Given the description of an element on the screen output the (x, y) to click on. 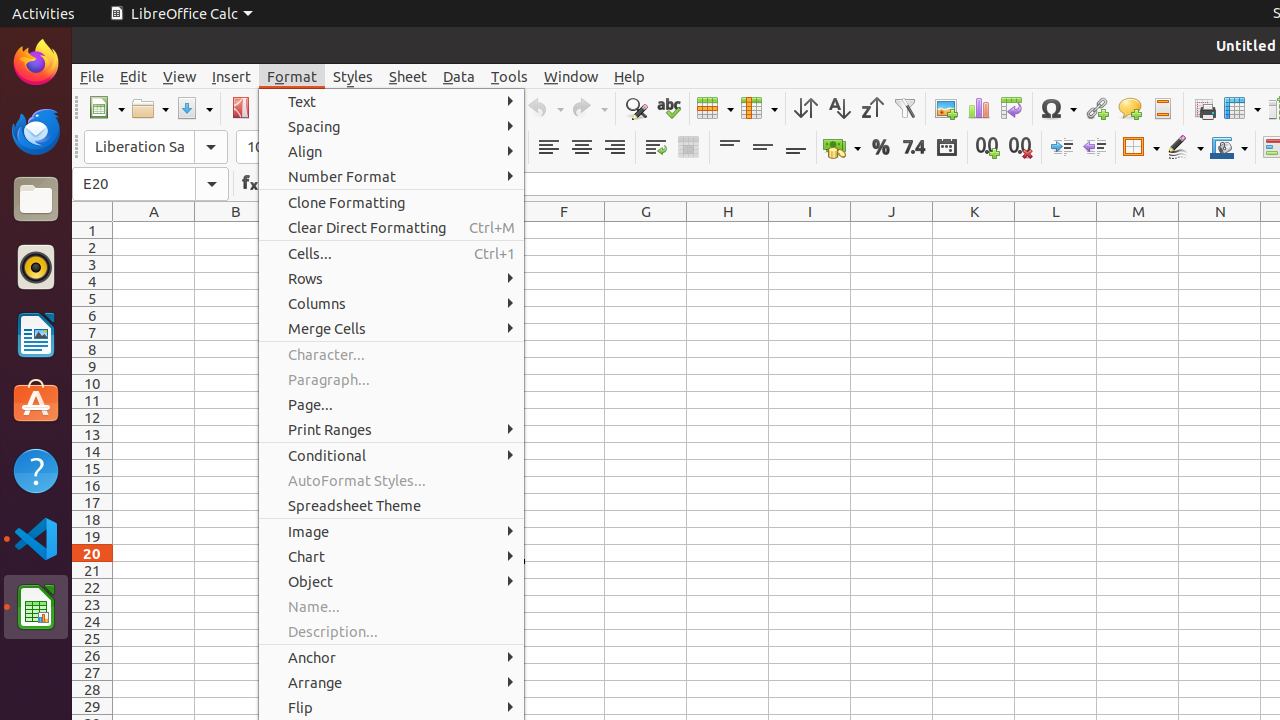
LibreOffice Calc Element type: menu (181, 13)
Sort Ascending Element type: push-button (838, 108)
Format Element type: menu (292, 76)
Pivot Table Element type: push-button (1011, 108)
Borders (Shift to overwrite) Element type: push-button (1141, 147)
